Given the description of an element on the screen output the (x, y) to click on. 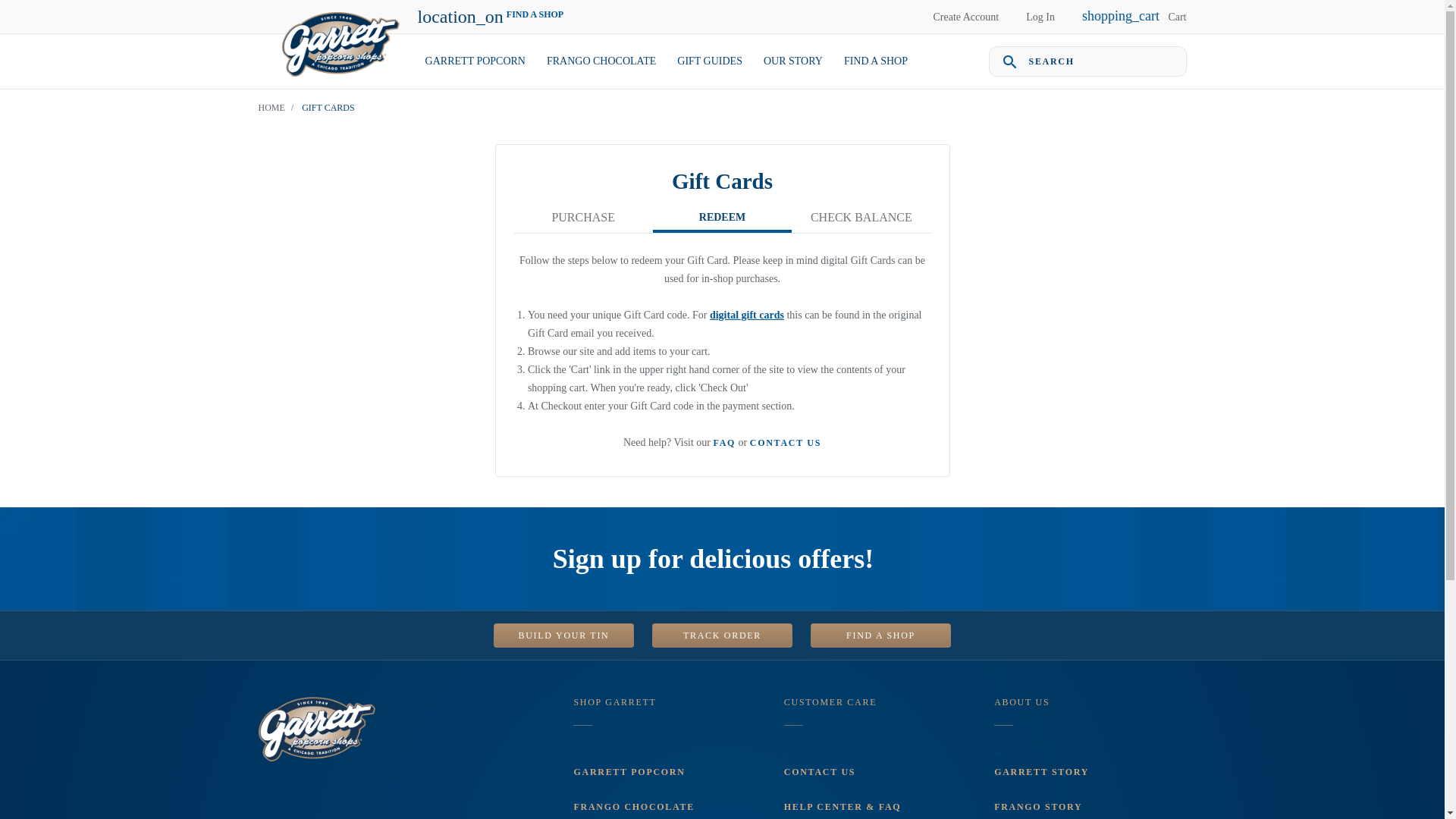
HOME (270, 107)
FRANGO CHOCOLATE (601, 61)
GARRETT POPCORN (475, 61)
digital gift cards (747, 315)
FIND A SHOP (880, 635)
FIND A SHOP (875, 61)
Create Account (965, 16)
OUR STORY (792, 61)
GIFT GUIDES (709, 61)
Twitter (306, 795)
